Given the description of an element on the screen output the (x, y) to click on. 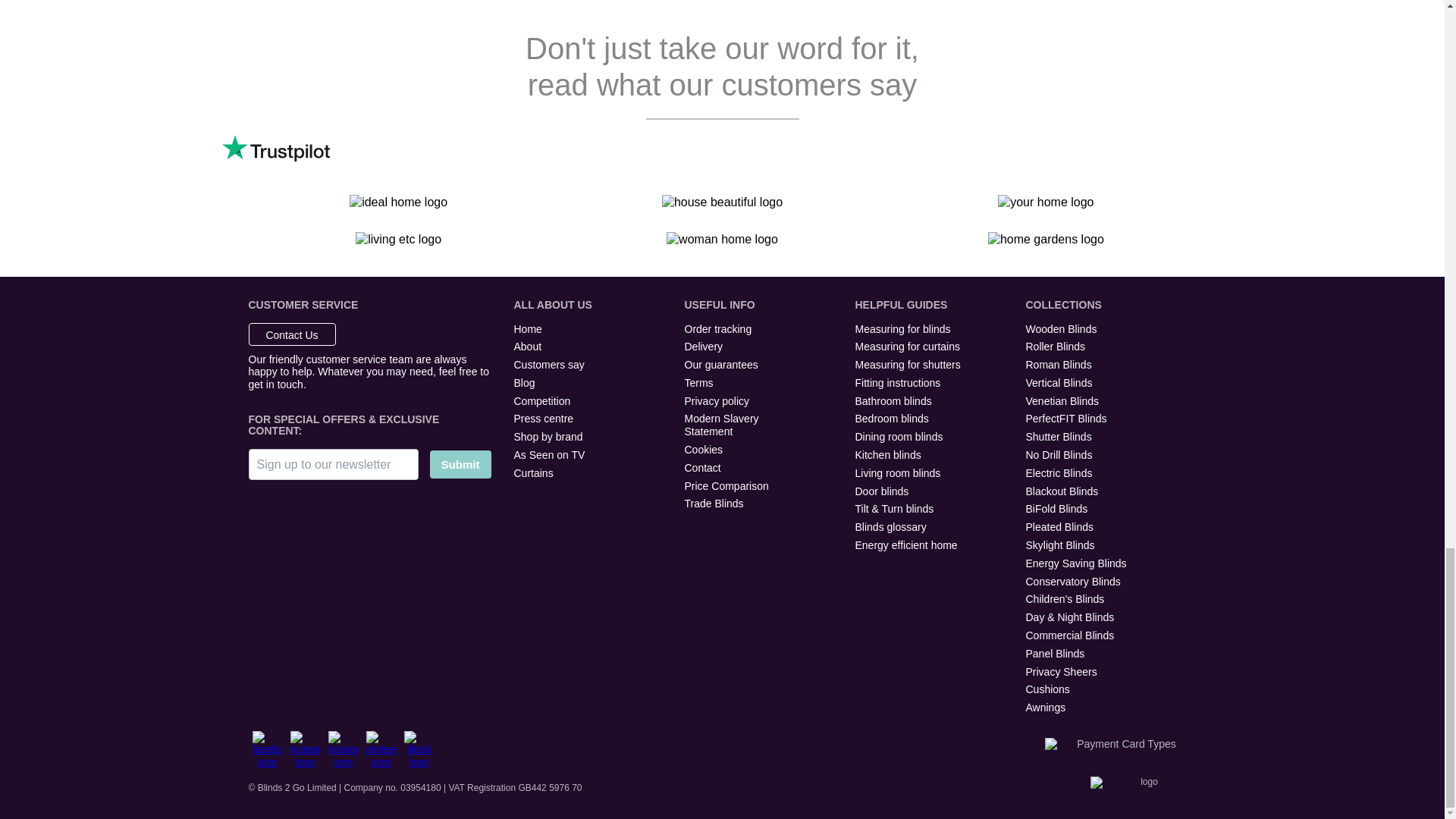
Submit (460, 464)
